Given the description of an element on the screen output the (x, y) to click on. 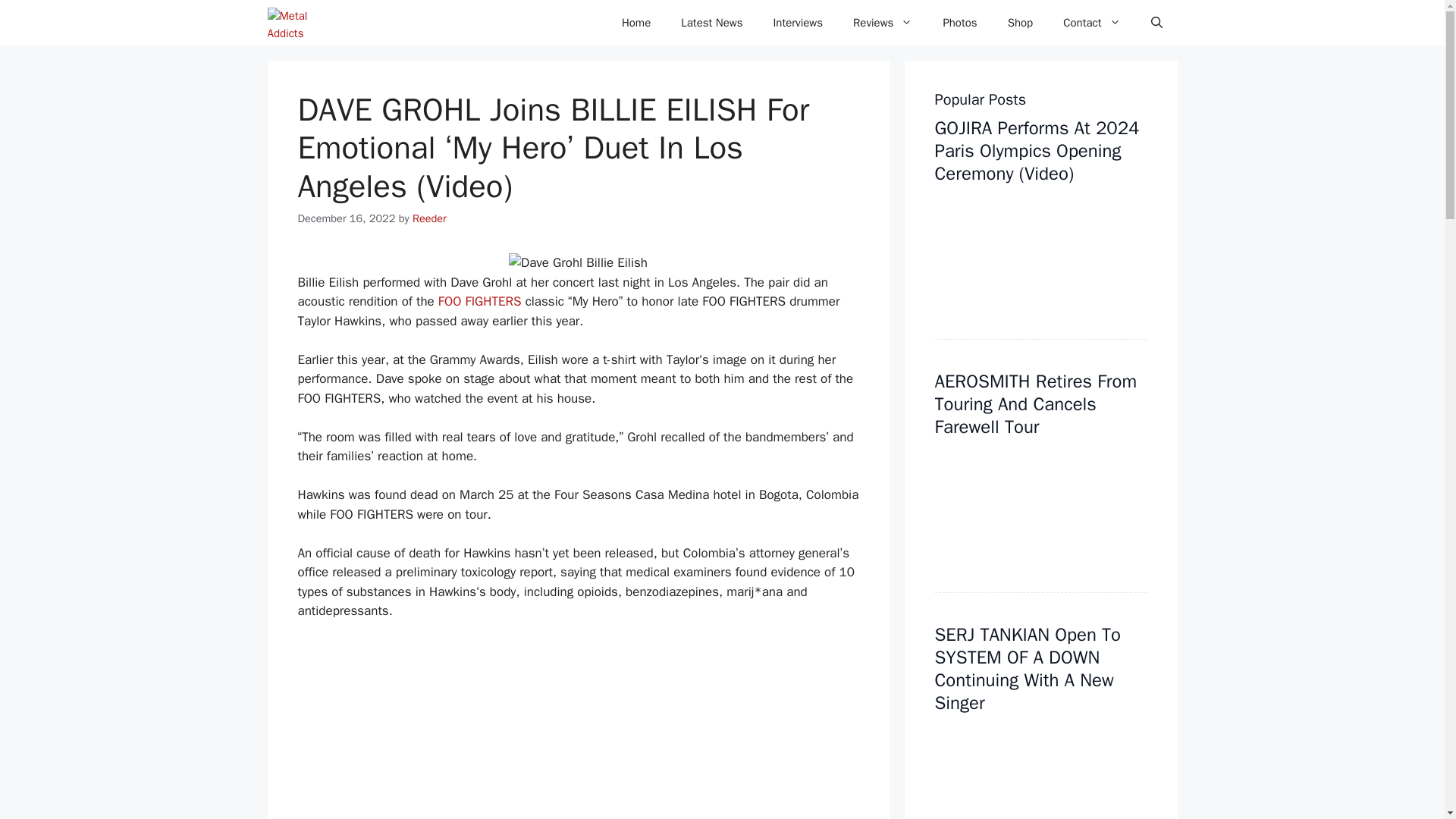
AEROSMITH Retires From Touring And Cancels Farewell Tour (1035, 404)
Contact (1091, 22)
Photos (959, 22)
Shop (1020, 22)
Reeder (429, 218)
Home (636, 22)
Interviews (797, 22)
Metal Addicts (300, 22)
FOO FIGHTERS (479, 301)
Metal Addicts Shop (1020, 22)
